Given the description of an element on the screen output the (x, y) to click on. 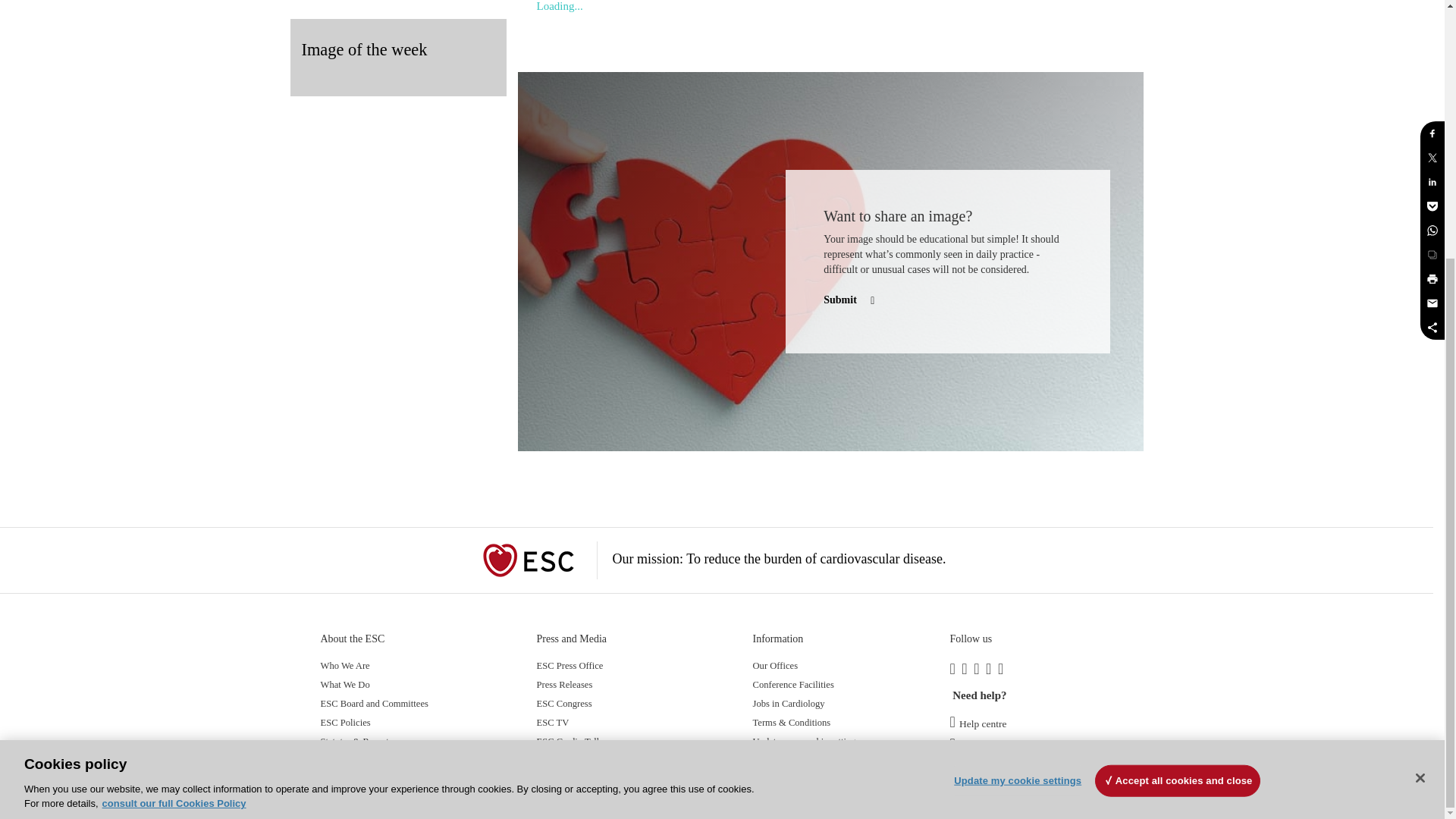
LinkedIn (967, 670)
You Tube (991, 670)
Contact us (976, 745)
X (979, 670)
Facebook (954, 670)
 Help centre (977, 723)
